Given the description of an element on the screen output the (x, y) to click on. 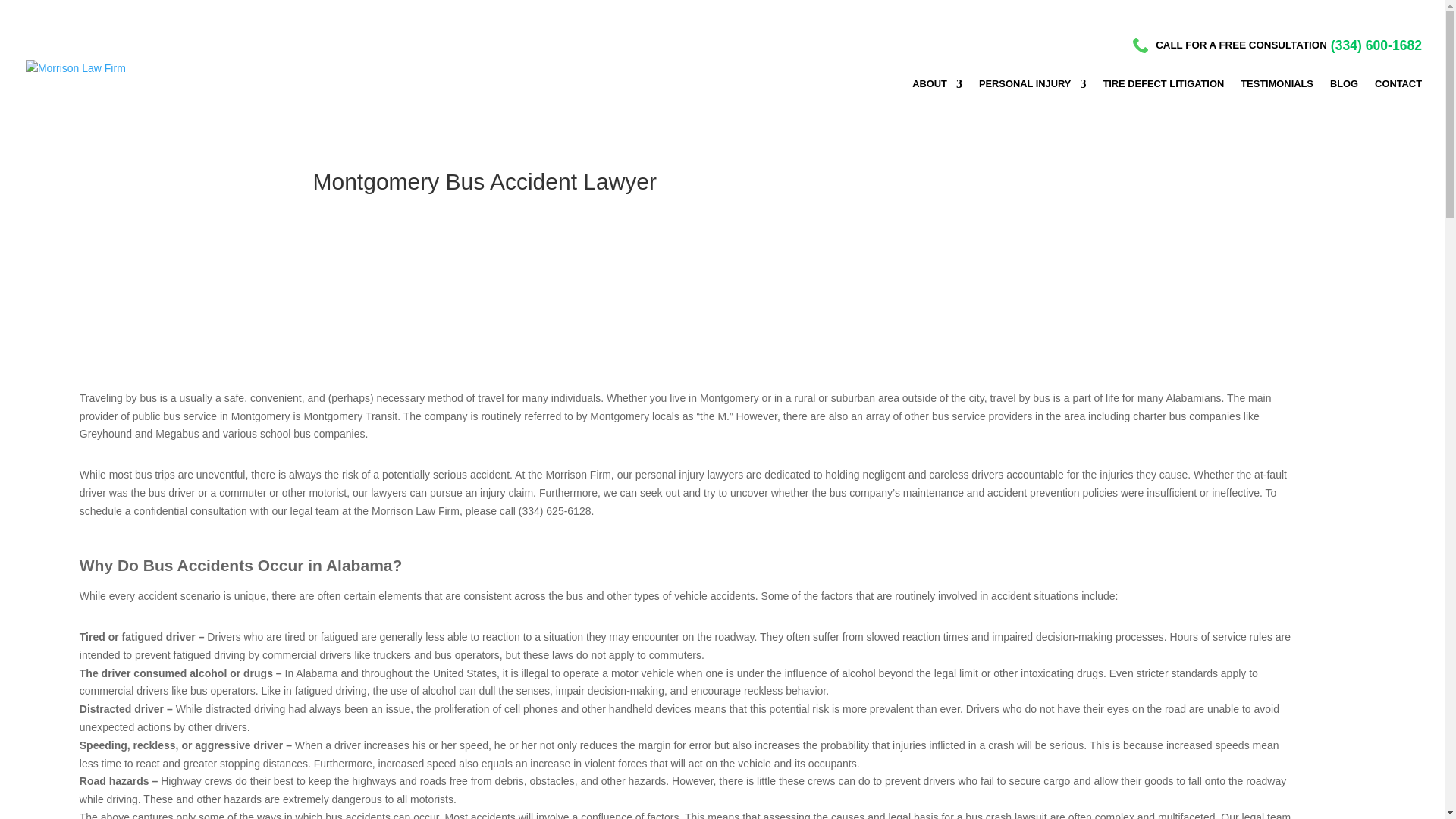
CONTACT (1398, 96)
ABOUT (937, 96)
TIRE DEFECT LITIGATION (1163, 96)
PERSONAL INJURY (1032, 96)
TESTIMONIALS (1276, 96)
